Given the description of an element on the screen output the (x, y) to click on. 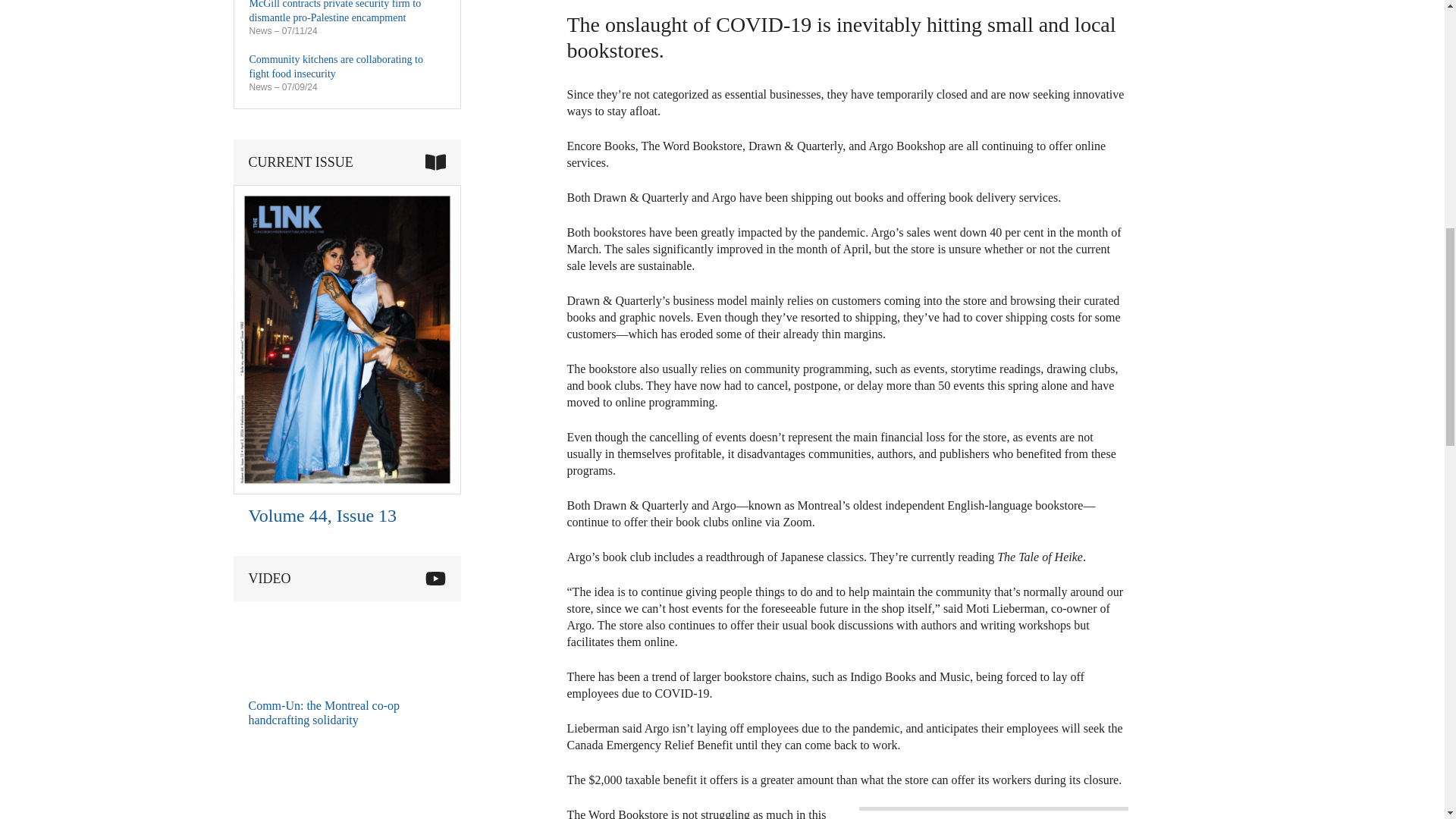
Comm-Un: The Montreal co-op handcrafting solidarity (308, 644)
View issue (346, 490)
